Given the description of an element on the screen output the (x, y) to click on. 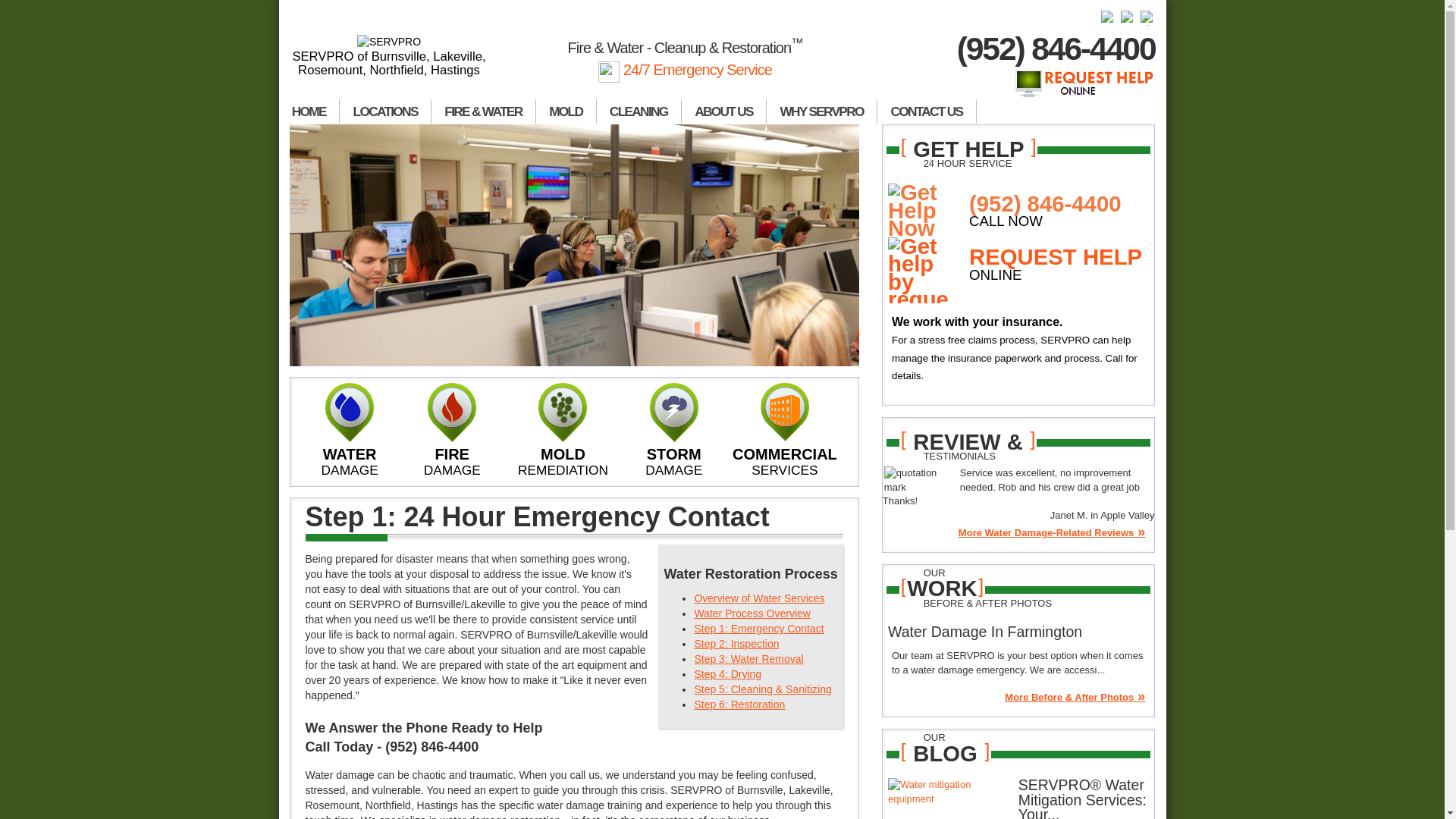
ABOUT US (724, 111)
HOME (309, 111)
LOCATIONS (384, 111)
MOLD (565, 111)
CLEANING (638, 111)
